Given the description of an element on the screen output the (x, y) to click on. 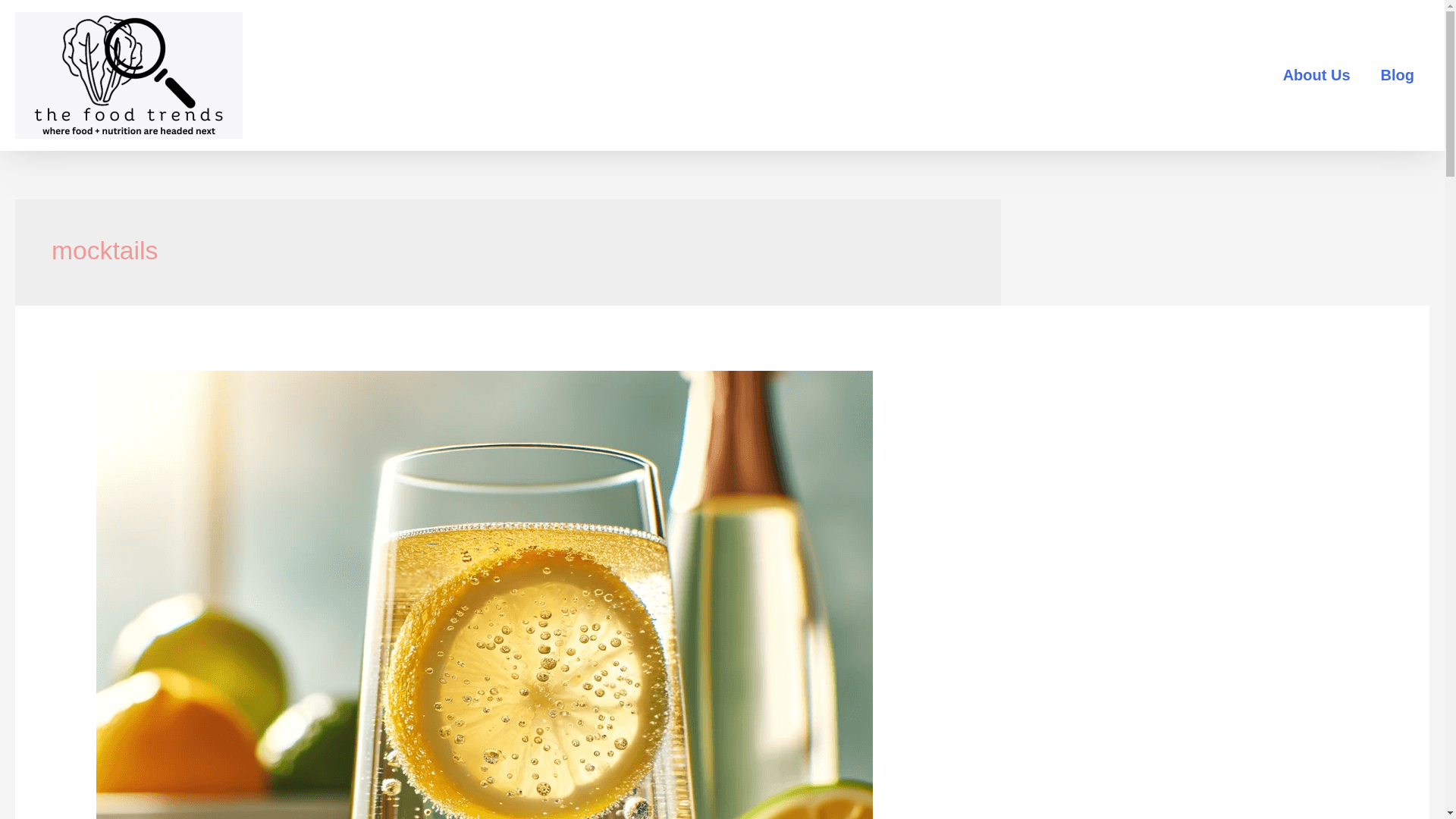
Blog (1397, 75)
About Us (1316, 75)
